Given the description of an element on the screen output the (x, y) to click on. 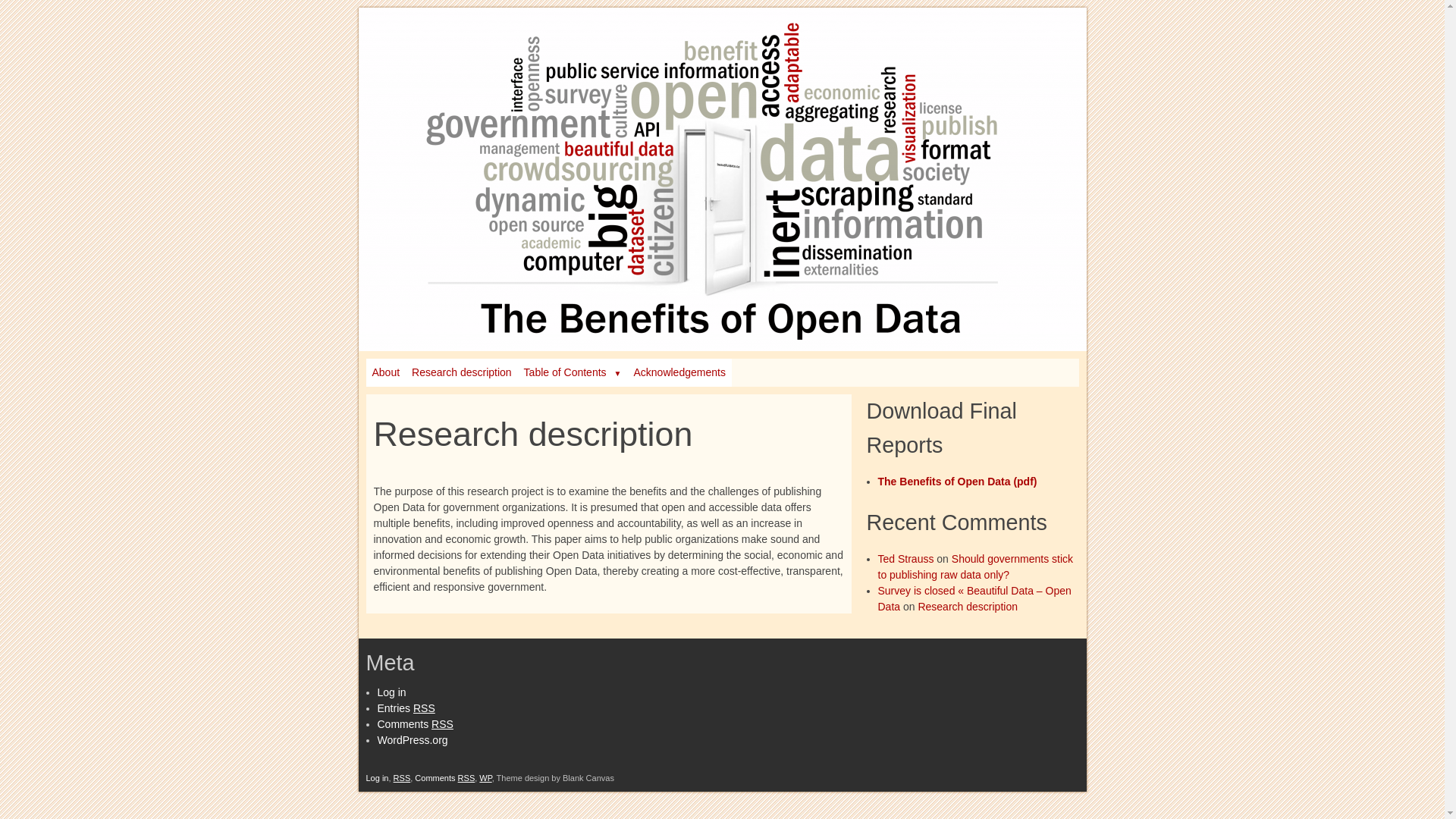
Entries RSS Element type: text (406, 708)
WP Element type: text (485, 777)
About Element type: text (385, 372)
Comments RSS Element type: text (415, 724)
Should governments stick to publishing raw data only? Element type: text (975, 566)
Log in Element type: text (391, 692)
Ted Strauss Element type: text (906, 558)
Acknowledgements Element type: text (679, 372)
RSS Element type: text (402, 777)
Research description Element type: text (461, 372)
The Benefits of Open Data (pdf) Element type: text (957, 481)
Table of Contents Element type: text (572, 372)
WordPress.org Element type: text (412, 740)
Log in Element type: text (376, 777)
Comments RSS Element type: text (444, 777)
Research description Element type: text (967, 606)
